Given the description of an element on the screen output the (x, y) to click on. 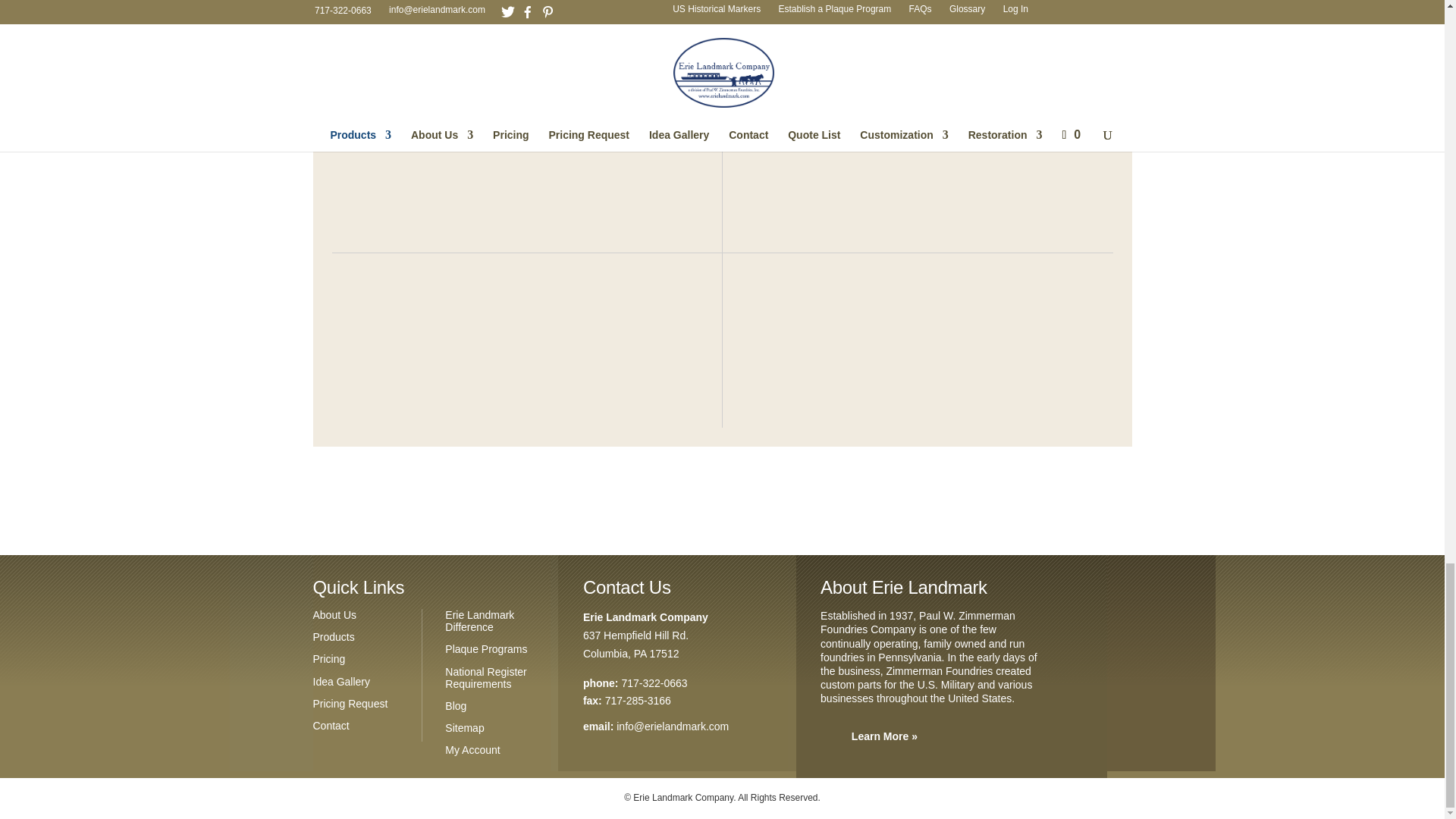
Etched Plaques (507, 164)
Etched Plaques (937, 332)
Etched Plaques (937, 157)
Etched Plaques (507, 332)
